Given the description of an element on the screen output the (x, y) to click on. 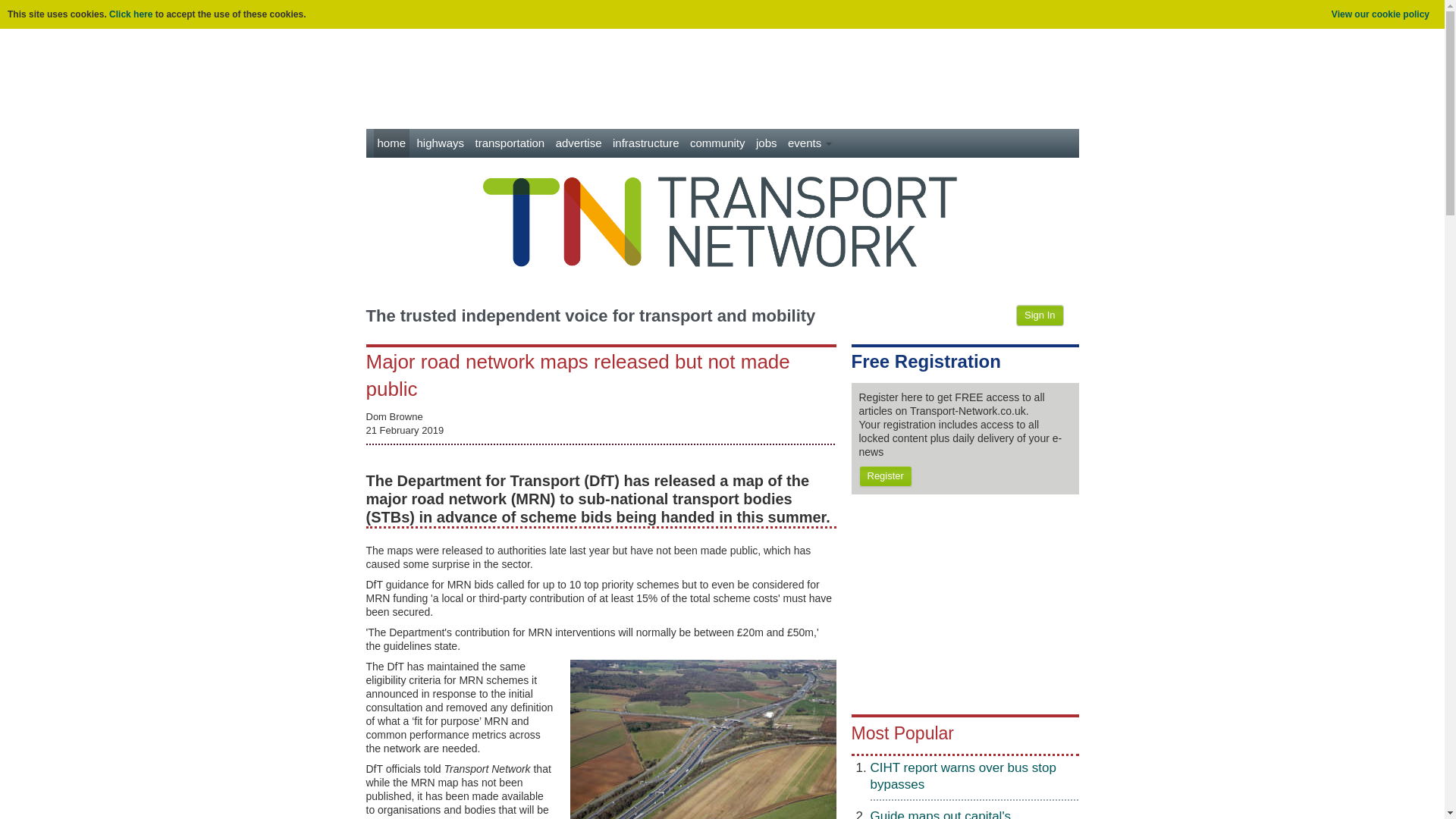
Click here (130, 14)
highways (439, 142)
community (717, 142)
Sign In (1039, 315)
jobs (766, 142)
CIHT report warns over bus stop bypasses (963, 775)
transportation (509, 142)
home (390, 142)
advertise (578, 142)
events (809, 142)
